Given the description of an element on the screen output the (x, y) to click on. 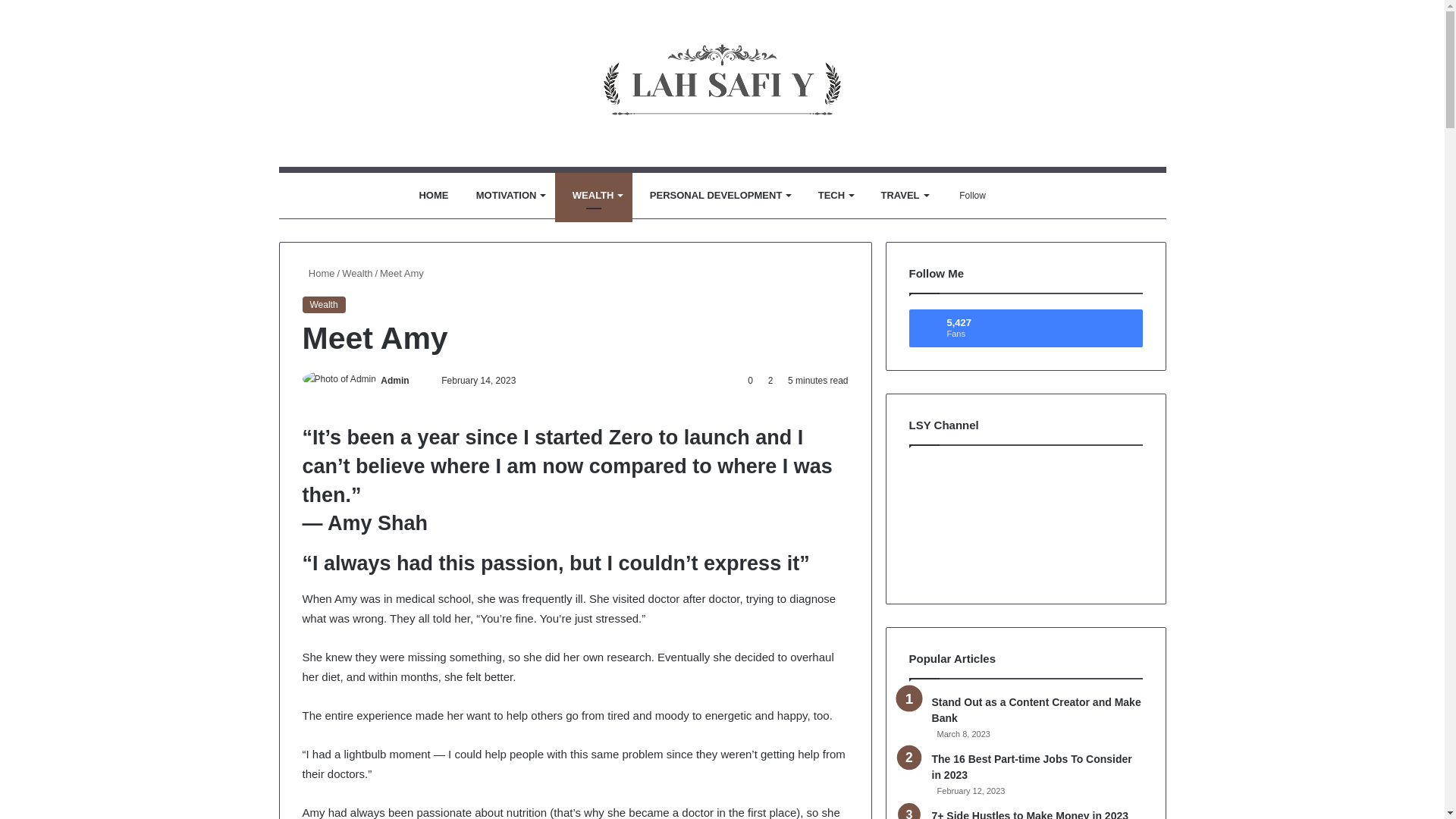
WEALTH (592, 195)
Admin (394, 380)
Admin (394, 380)
Wealth (323, 303)
Follow (968, 195)
MOTIVATION (506, 195)
PERSONAL DEVELOPMENT (715, 195)
Home (317, 272)
TECH (831, 195)
TRAVEL (900, 195)
